Given the description of an element on the screen output the (x, y) to click on. 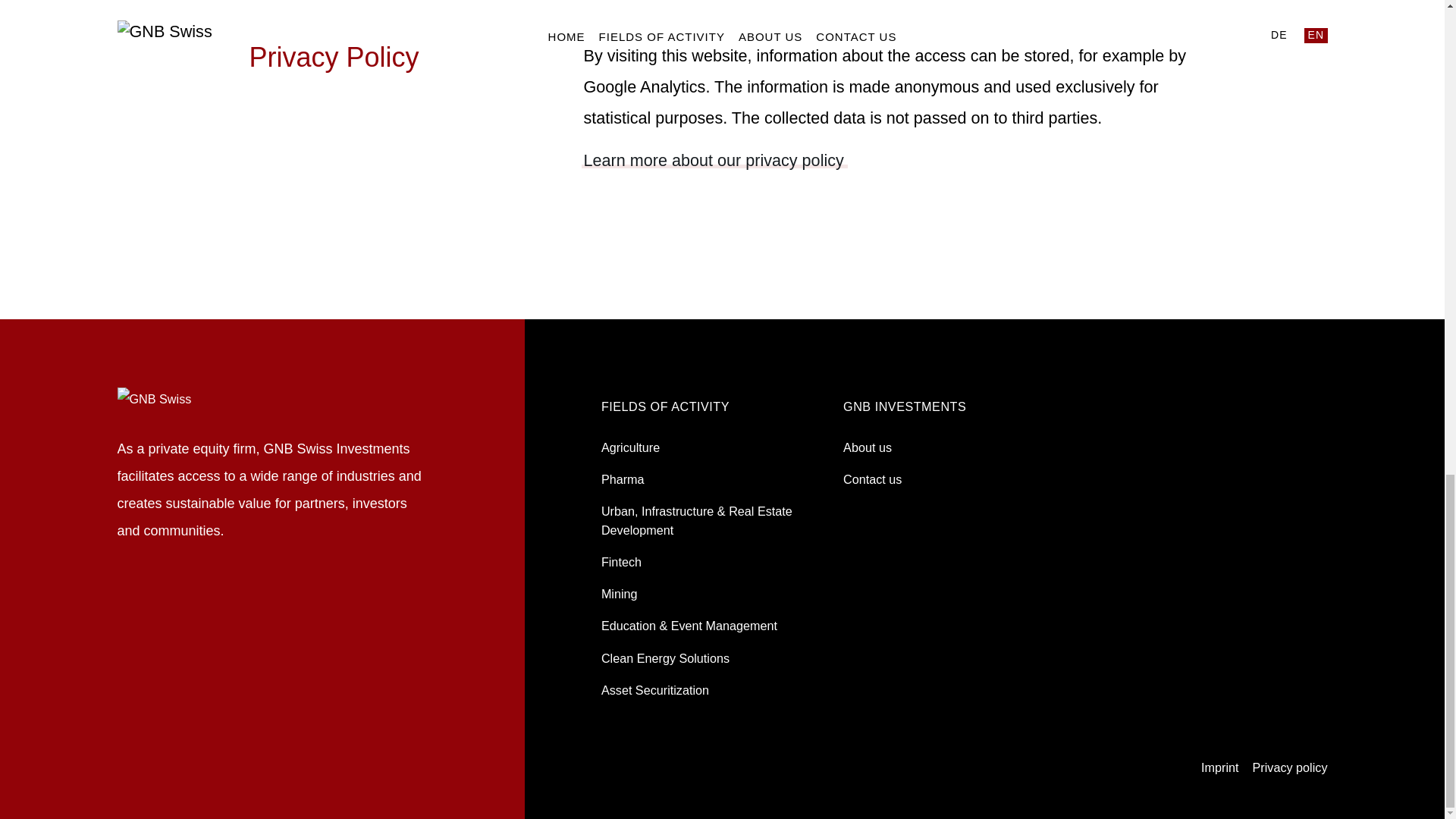
Clean Energy Solutions (665, 658)
Privacy policy (1289, 766)
GNB Swiss Investments AG (154, 397)
About us (867, 447)
Asset Securitization (655, 689)
Agriculture (630, 447)
Privacy policy (1289, 766)
Imprint (1220, 766)
Learn more about our privacy policy (712, 159)
Imprint (1220, 766)
